Given the description of an element on the screen output the (x, y) to click on. 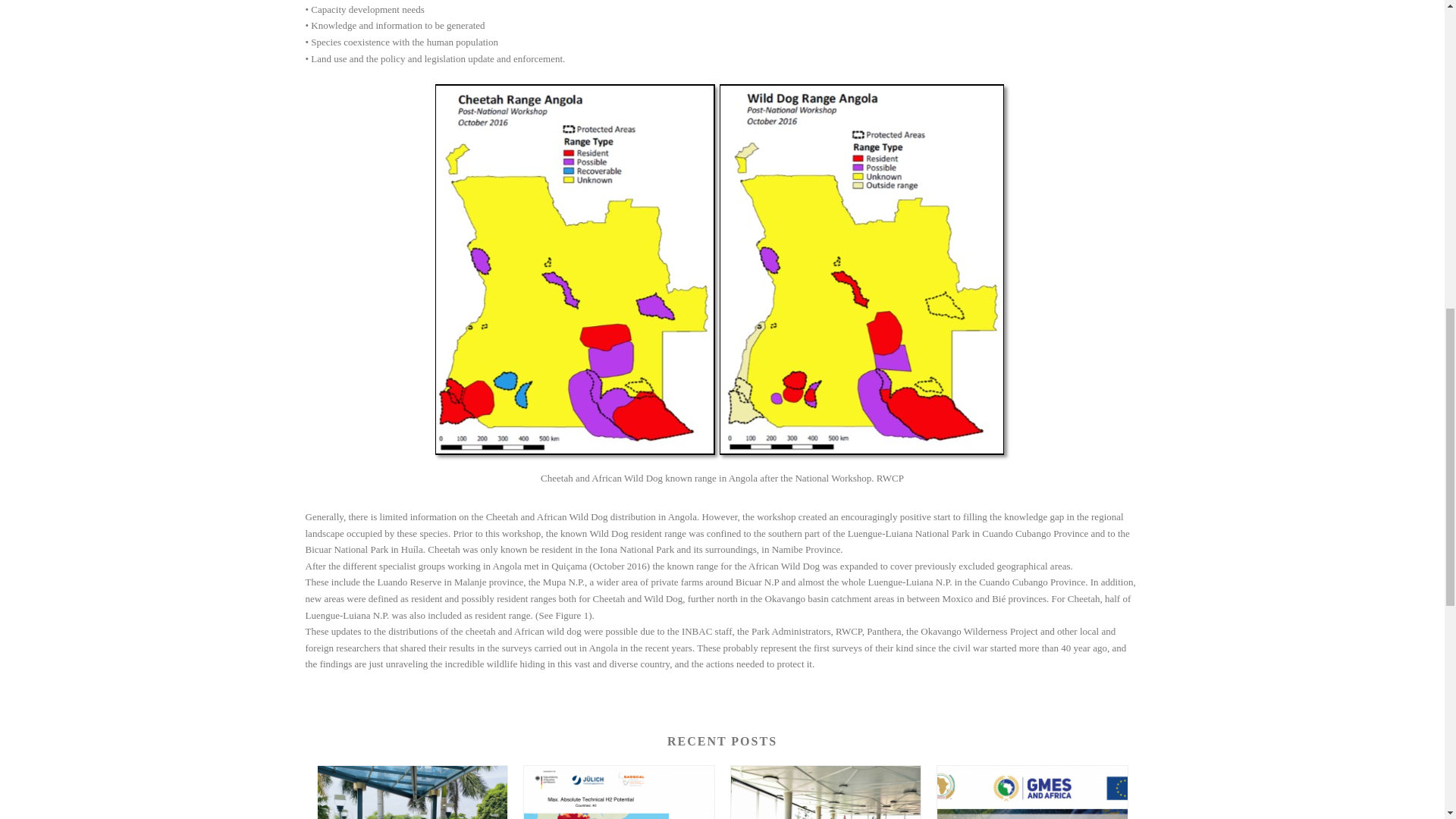
Press Release: Launch of the H2ATLAS Southern Africa (619, 792)
